Given the description of an element on the screen output the (x, y) to click on. 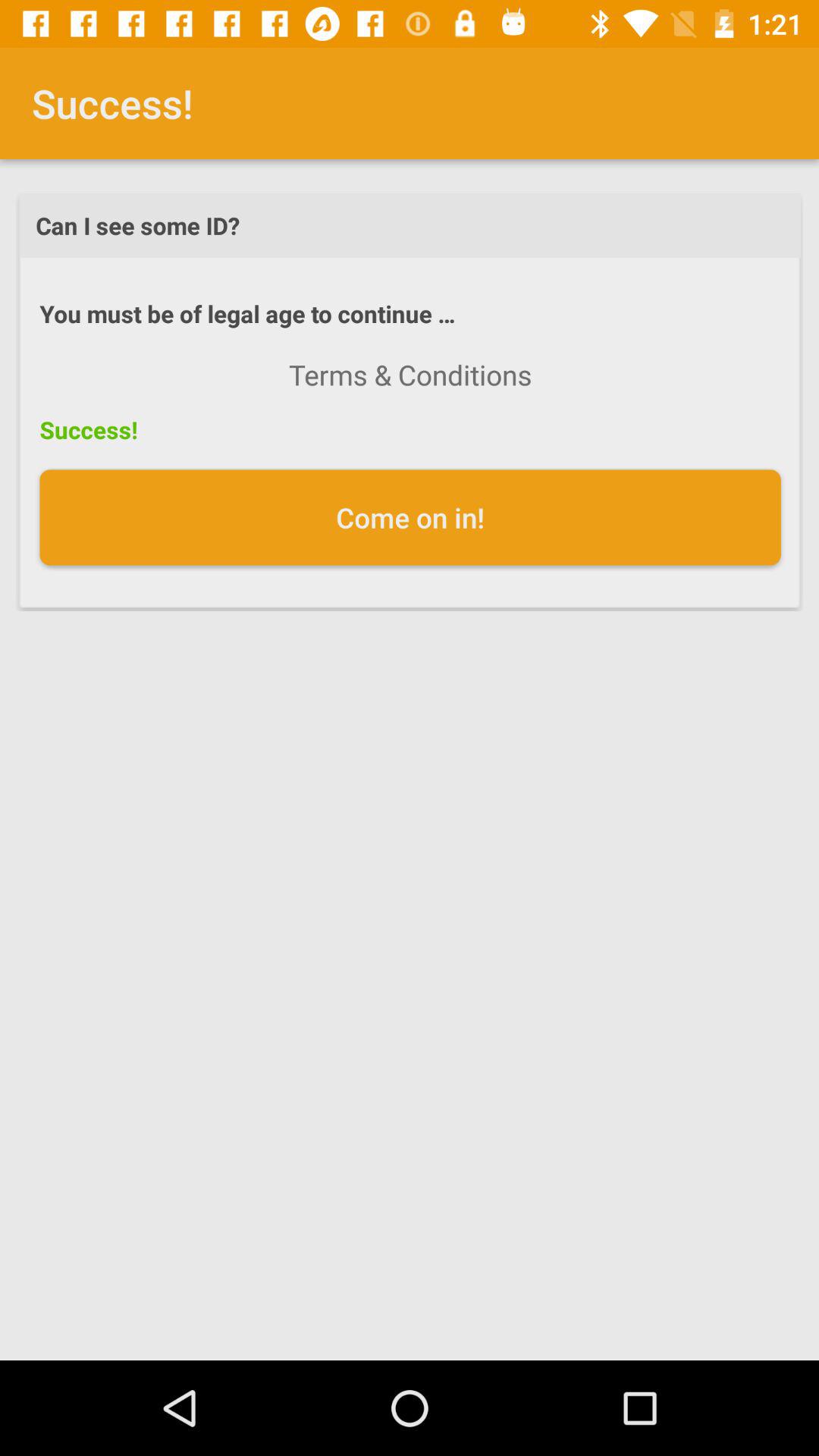
press the item next to the success! item (409, 374)
